Given the description of an element on the screen output the (x, y) to click on. 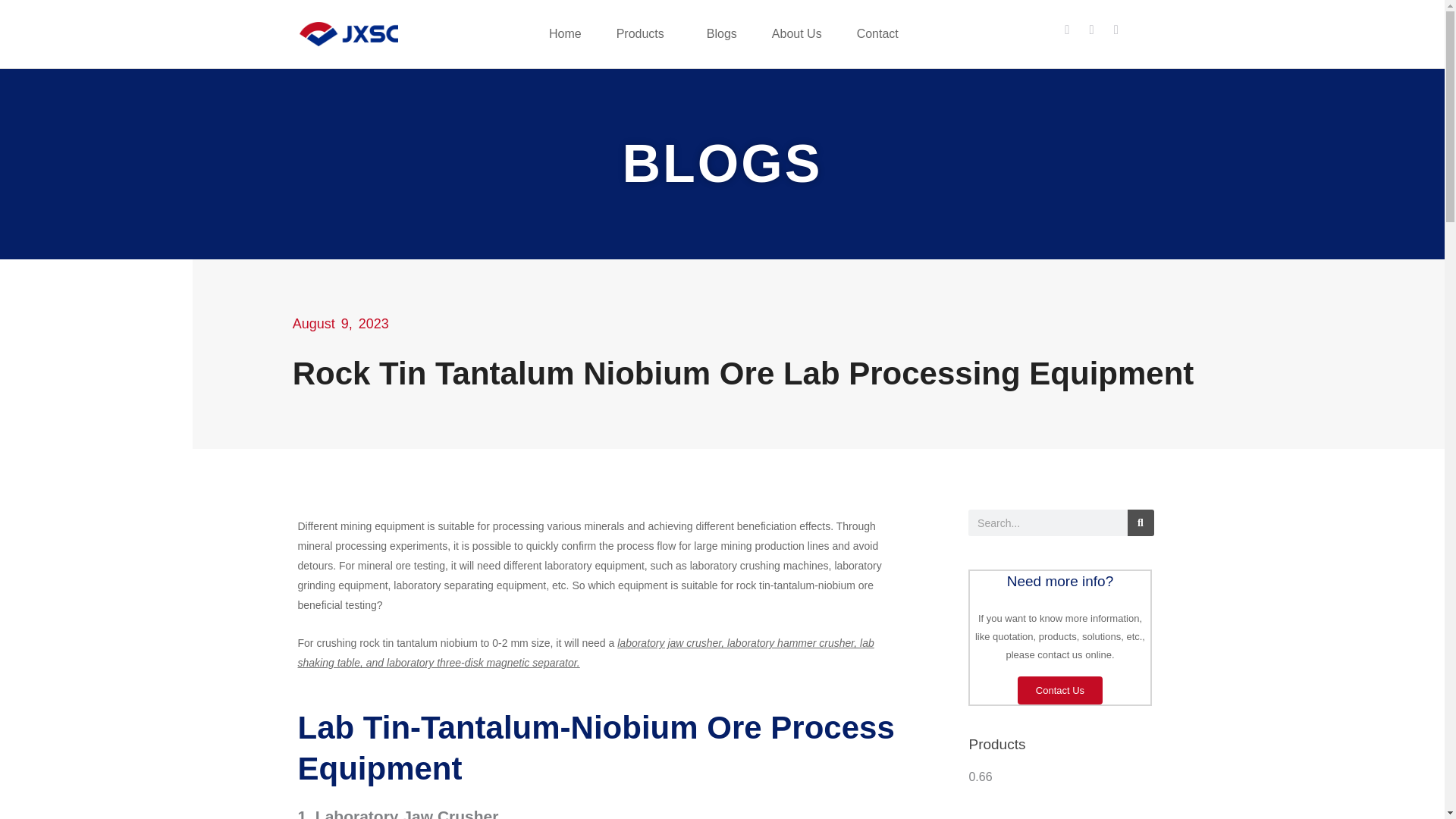
Products (643, 33)
Home (564, 33)
